Given the description of an element on the screen output the (x, y) to click on. 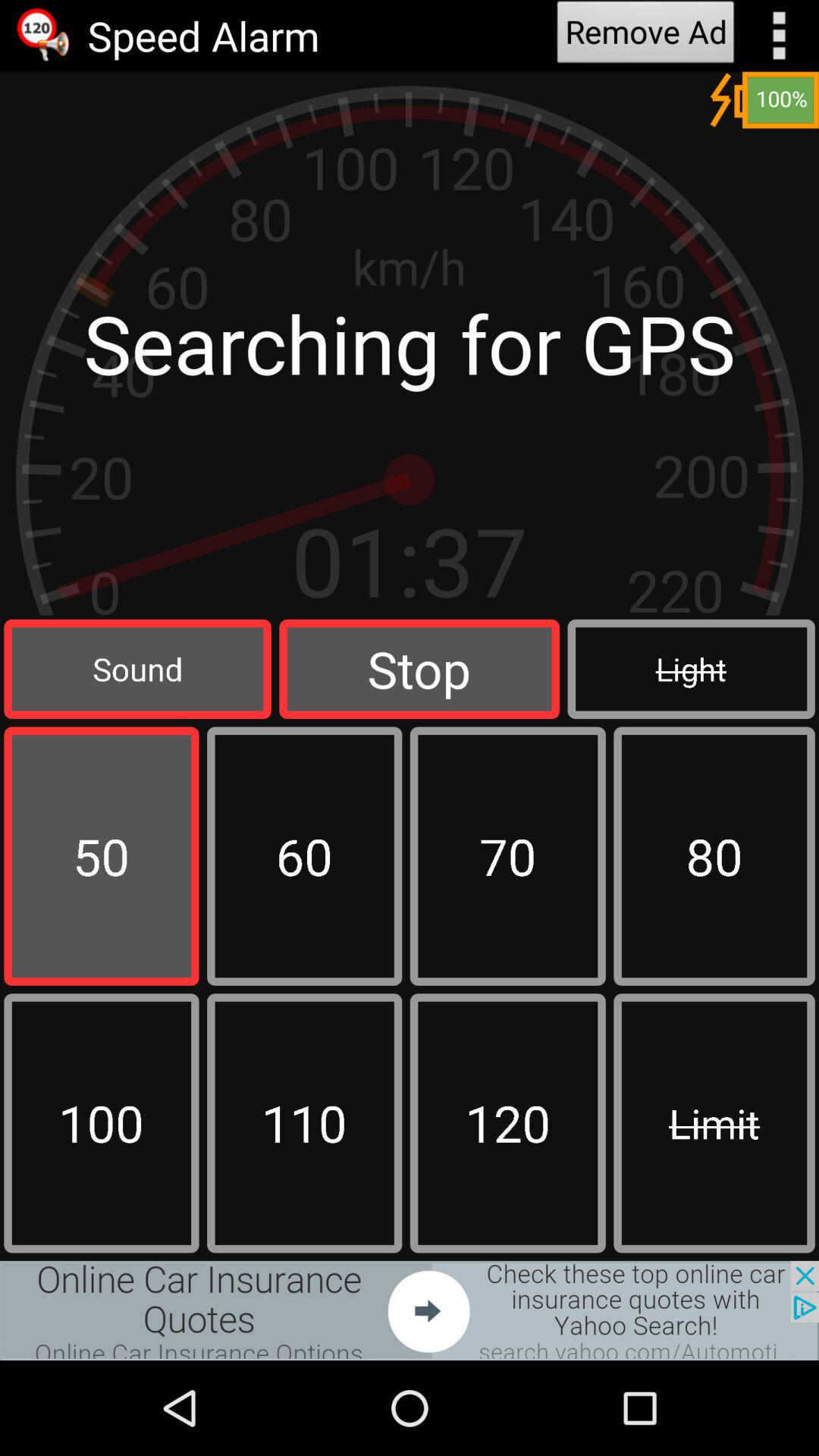
setting option (779, 35)
